Given the description of an element on the screen output the (x, y) to click on. 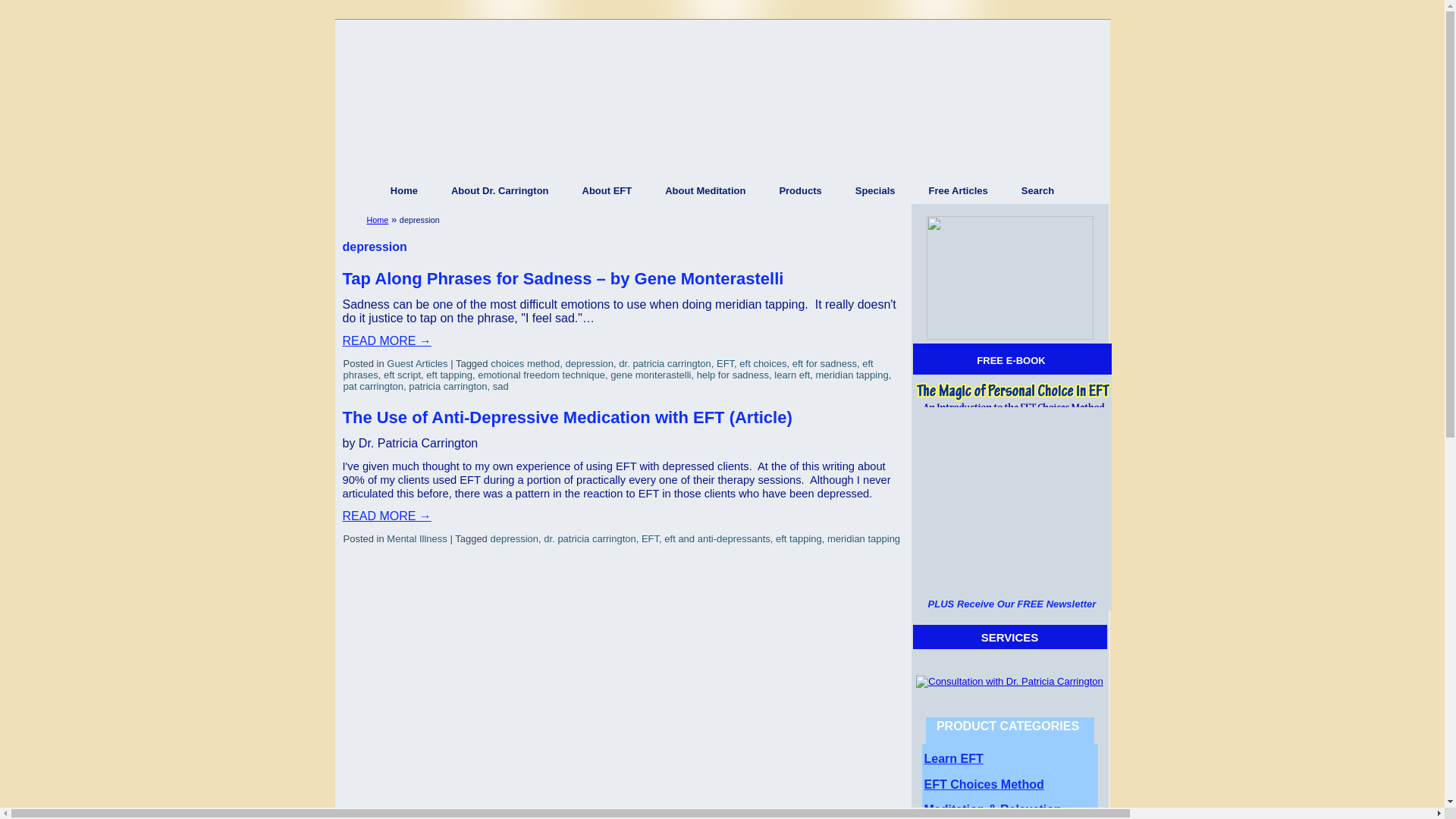
About EFT (607, 190)
About Meditation (704, 190)
About Dr. Carrington (500, 190)
Products (799, 190)
About Dr. Carrington (500, 190)
Specials (874, 190)
About EFT (607, 190)
Home (377, 219)
Home (404, 190)
Free Articles (957, 190)
